Given the description of an element on the screen output the (x, y) to click on. 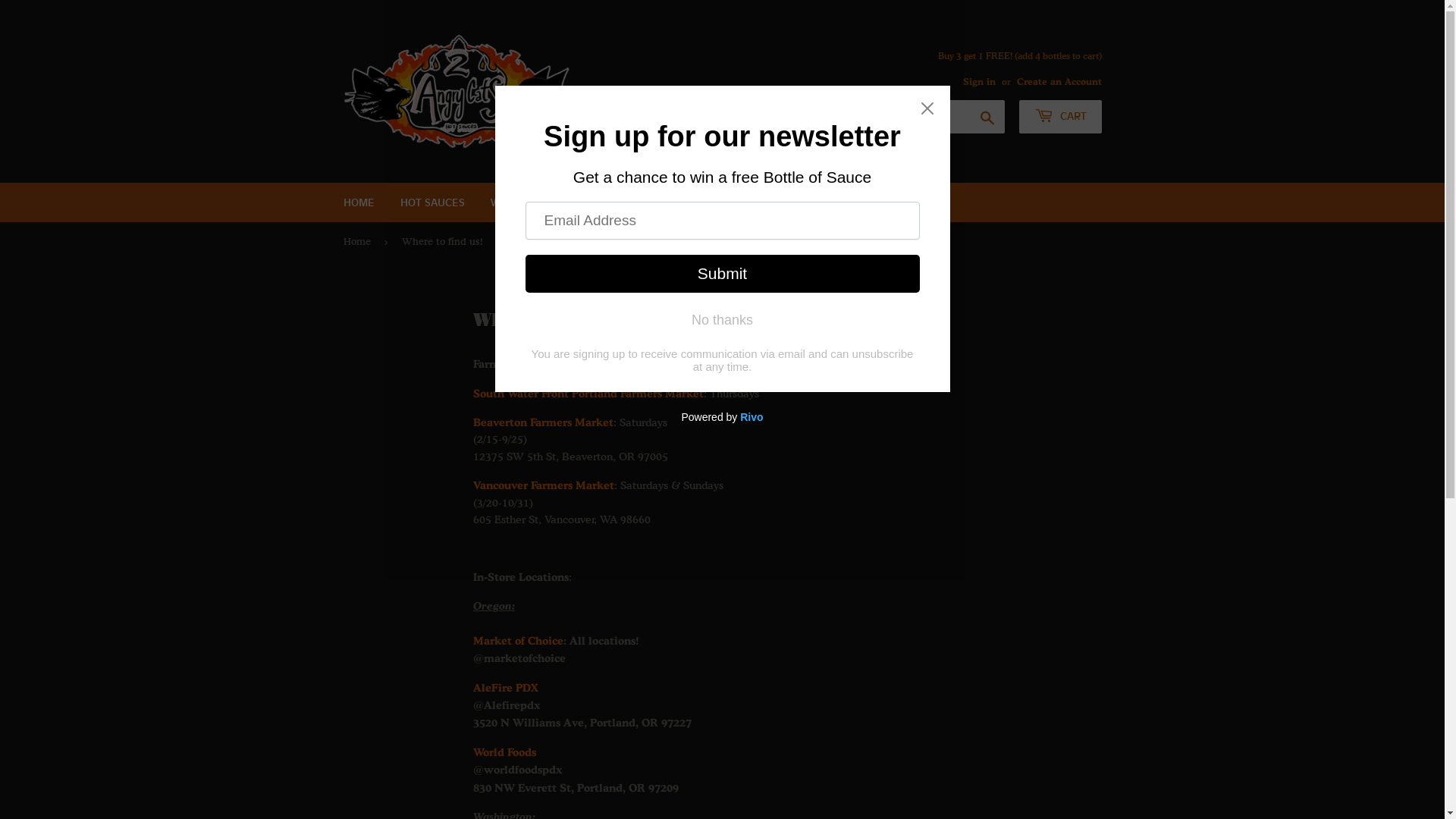
South Water Front Portland Farmers Market Element type: text (588, 393)
Create an Account Element type: text (1058, 81)
Home Element type: text (358, 241)
HOT SAUCES Element type: text (431, 202)
Beaverton Farmers Market Element type: text (543, 422)
CART Element type: text (1060, 116)
AleFire PDX Element type: text (505, 686)
Sign in Element type: text (979, 81)
TALK TO US Element type: text (648, 202)
REFUND/REPLACEMENT POLICY Element type: text (834, 202)
Vancouver Farmers Market Element type: text (543, 485)
Search Element type: text (987, 117)
WHERE TO FIND US! Element type: text (542, 202)
World Foods Element type: text (504, 751)
HOME Element type: text (358, 202)
Market of Choice Element type: text (518, 639)
FAQ Element type: text (715, 202)
